Given the description of an element on the screen output the (x, y) to click on. 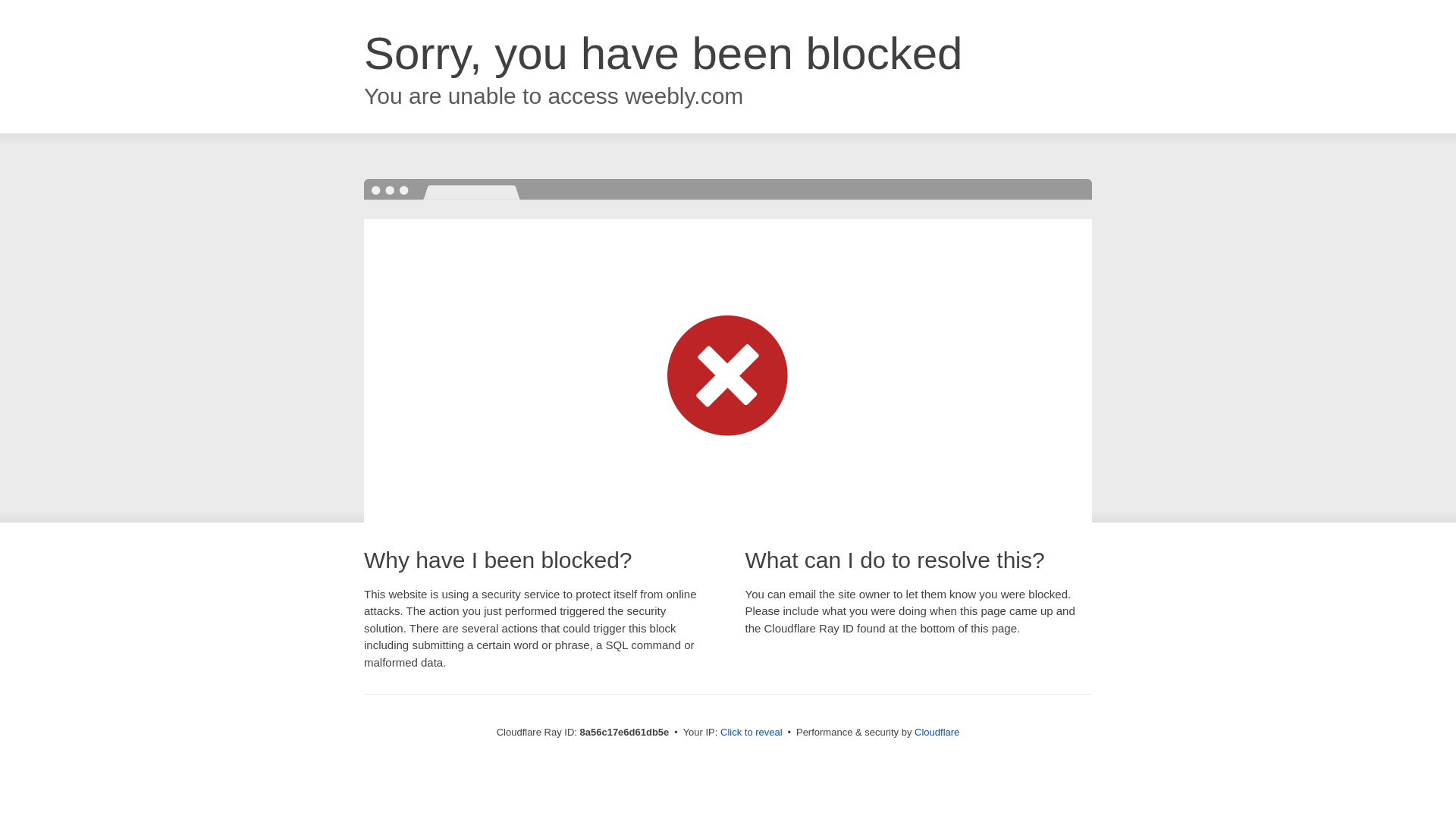
Click to reveal (751, 732)
Cloudflare (936, 731)
